Given the description of an element on the screen output the (x, y) to click on. 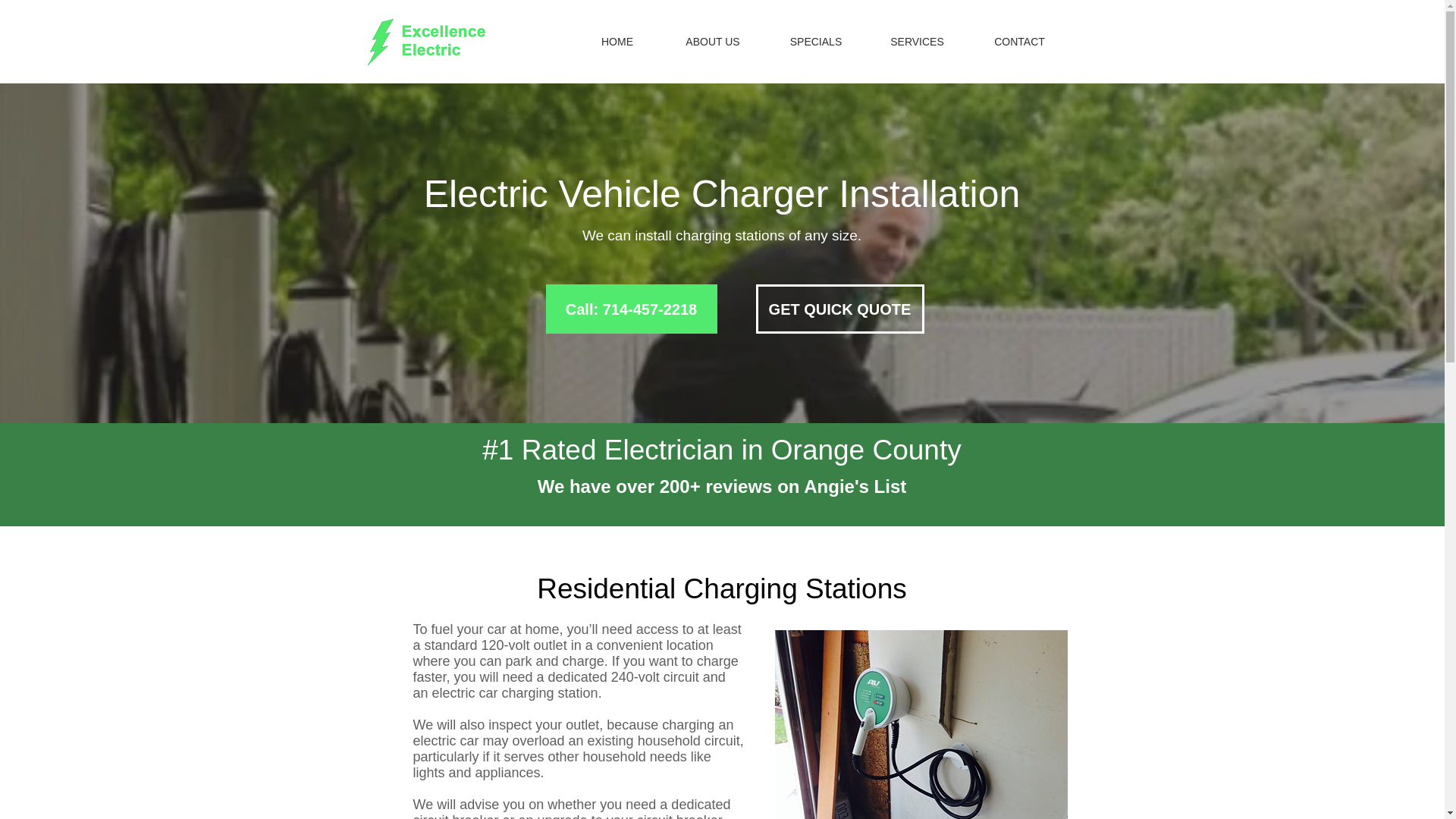
SPECIALS (815, 42)
ABOUT US (712, 42)
HOME (618, 42)
CONTACT (1019, 42)
Call: 714-457-2218 (631, 308)
GET QUICK QUOTE (839, 308)
